Given the description of an element on the screen output the (x, y) to click on. 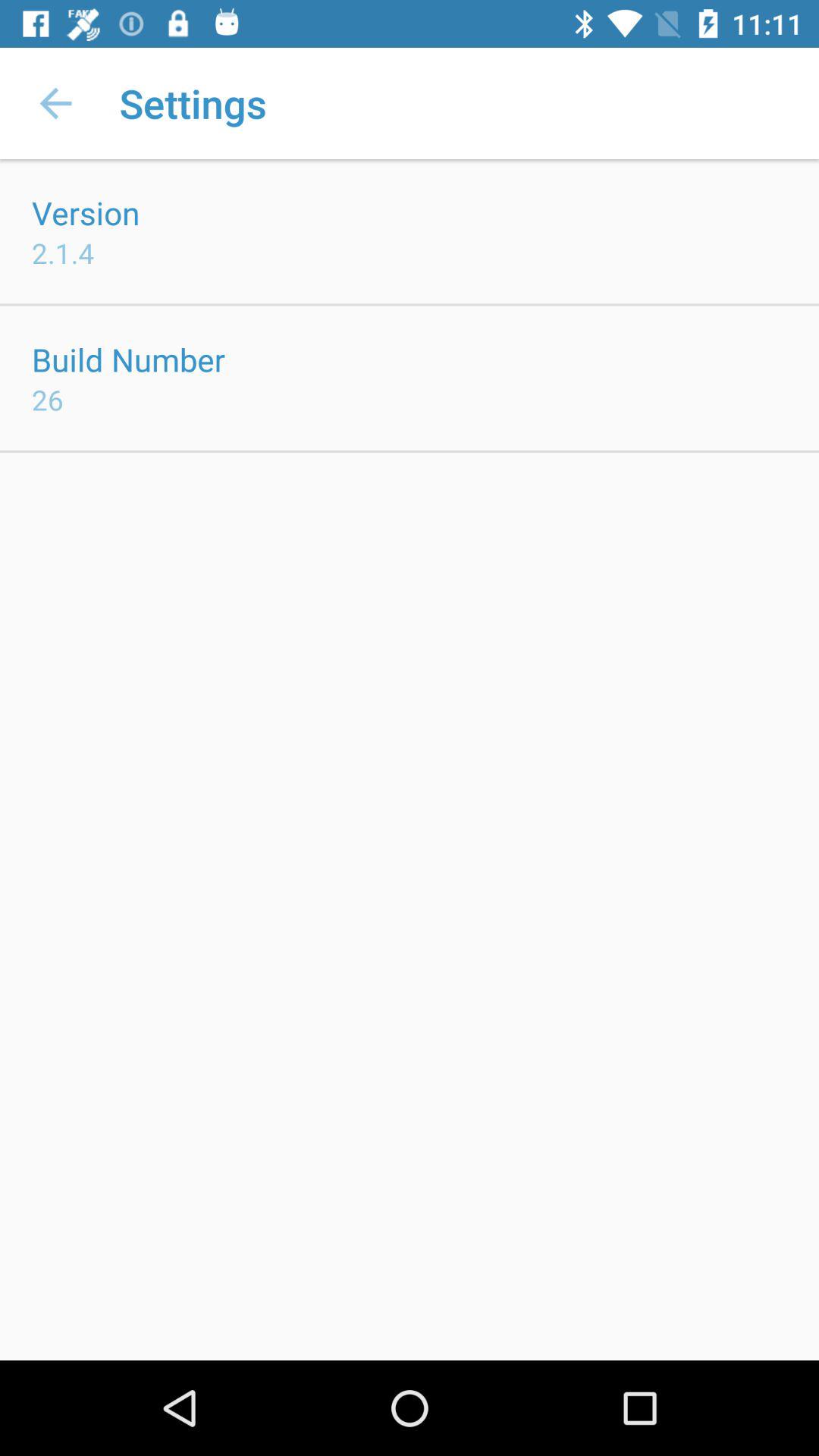
press the icon below the build number icon (47, 399)
